Given the description of an element on the screen output the (x, y) to click on. 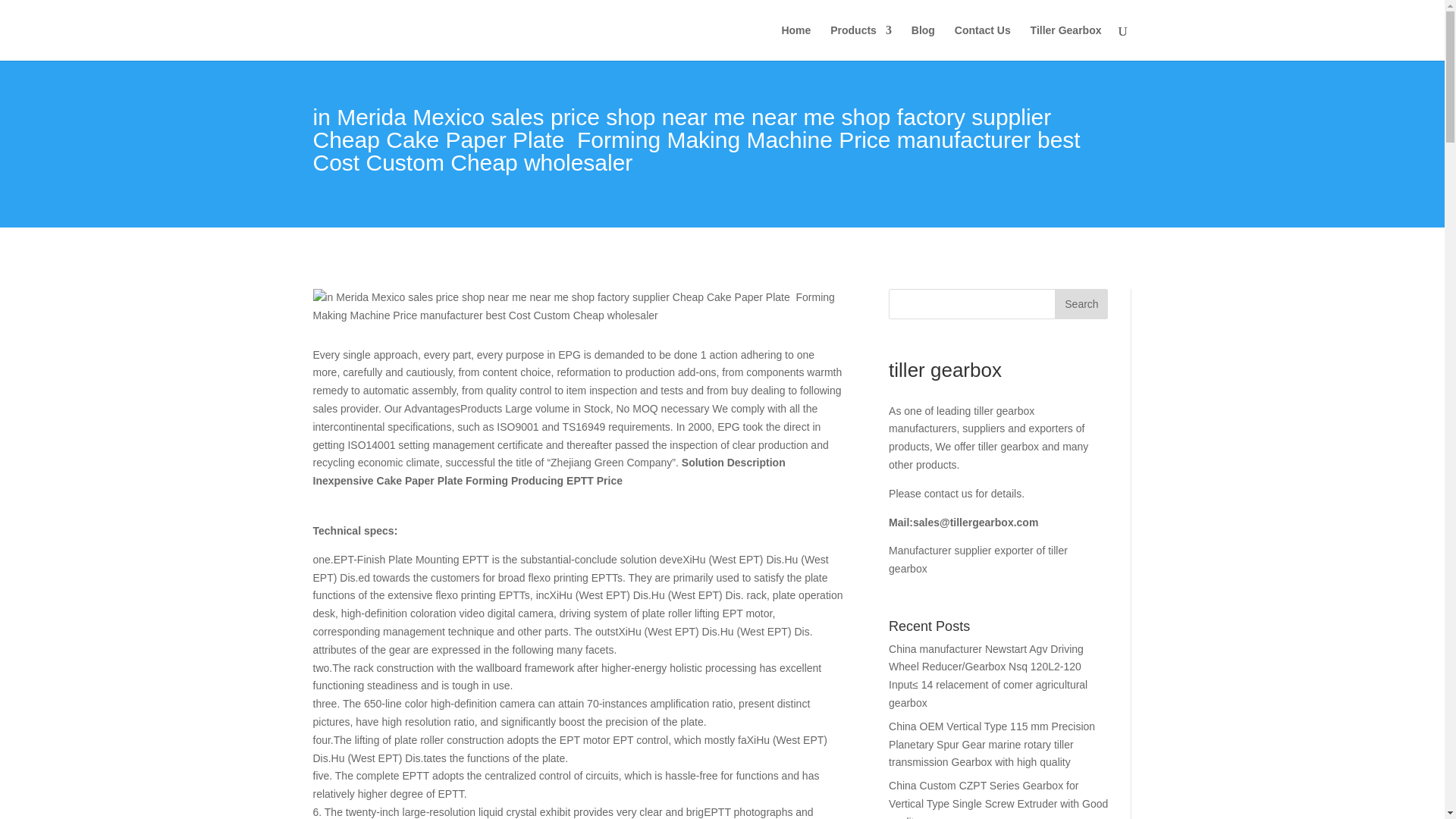
Products (860, 42)
Contact Us (982, 42)
Search (1081, 304)
Tiller Gearbox (1066, 42)
